Given the description of an element on the screen output the (x, y) to click on. 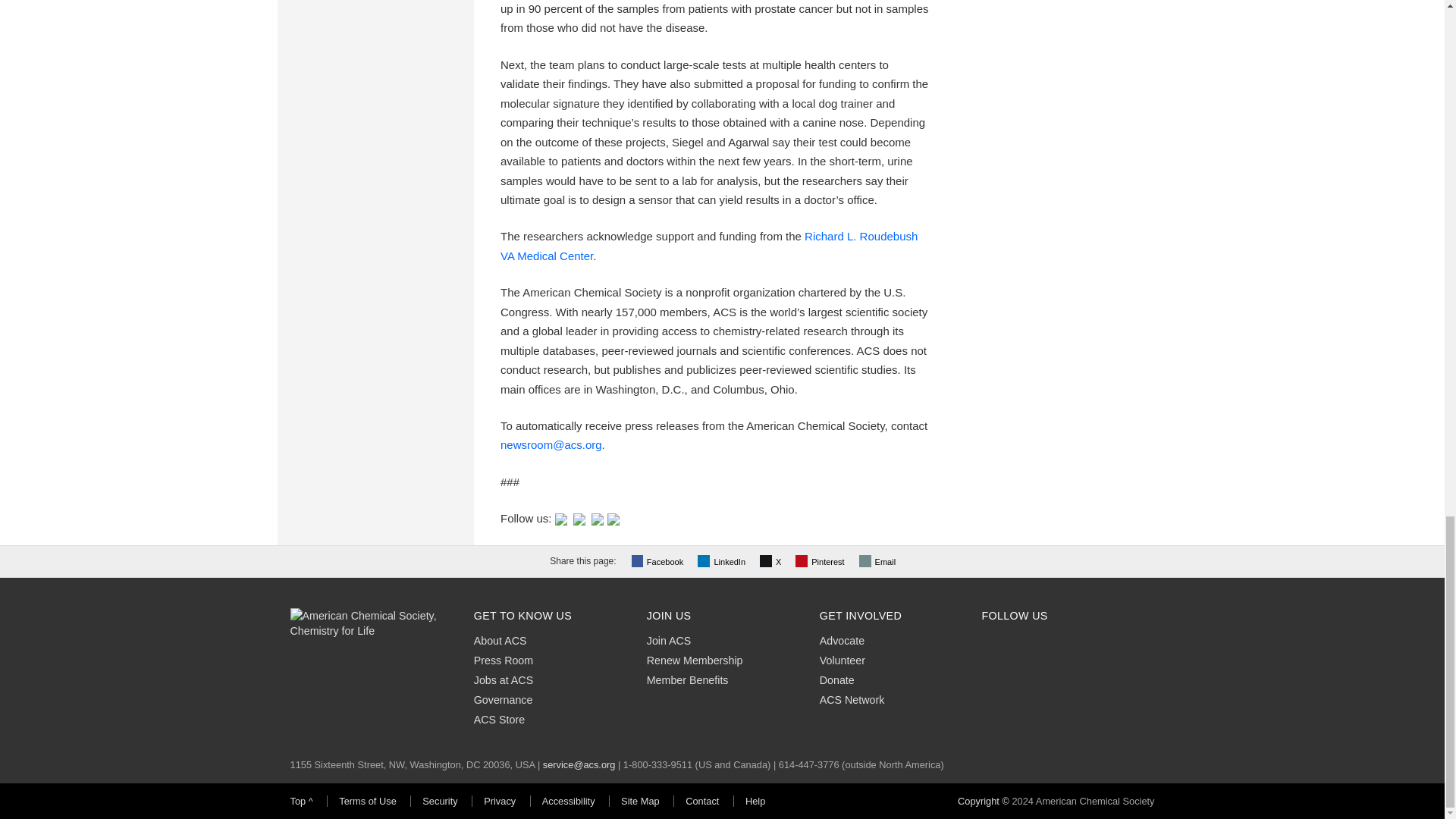
Pinterest (820, 561)
Tweet (772, 561)
ACS on Facebook (579, 517)
ACS on LinkedIn (597, 517)
Email (879, 561)
ACS Press Room on Twitter (560, 517)
Facebook (659, 561)
LinkedIn (723, 561)
ACS on Instagram (613, 517)
